Given the description of an element on the screen output the (x, y) to click on. 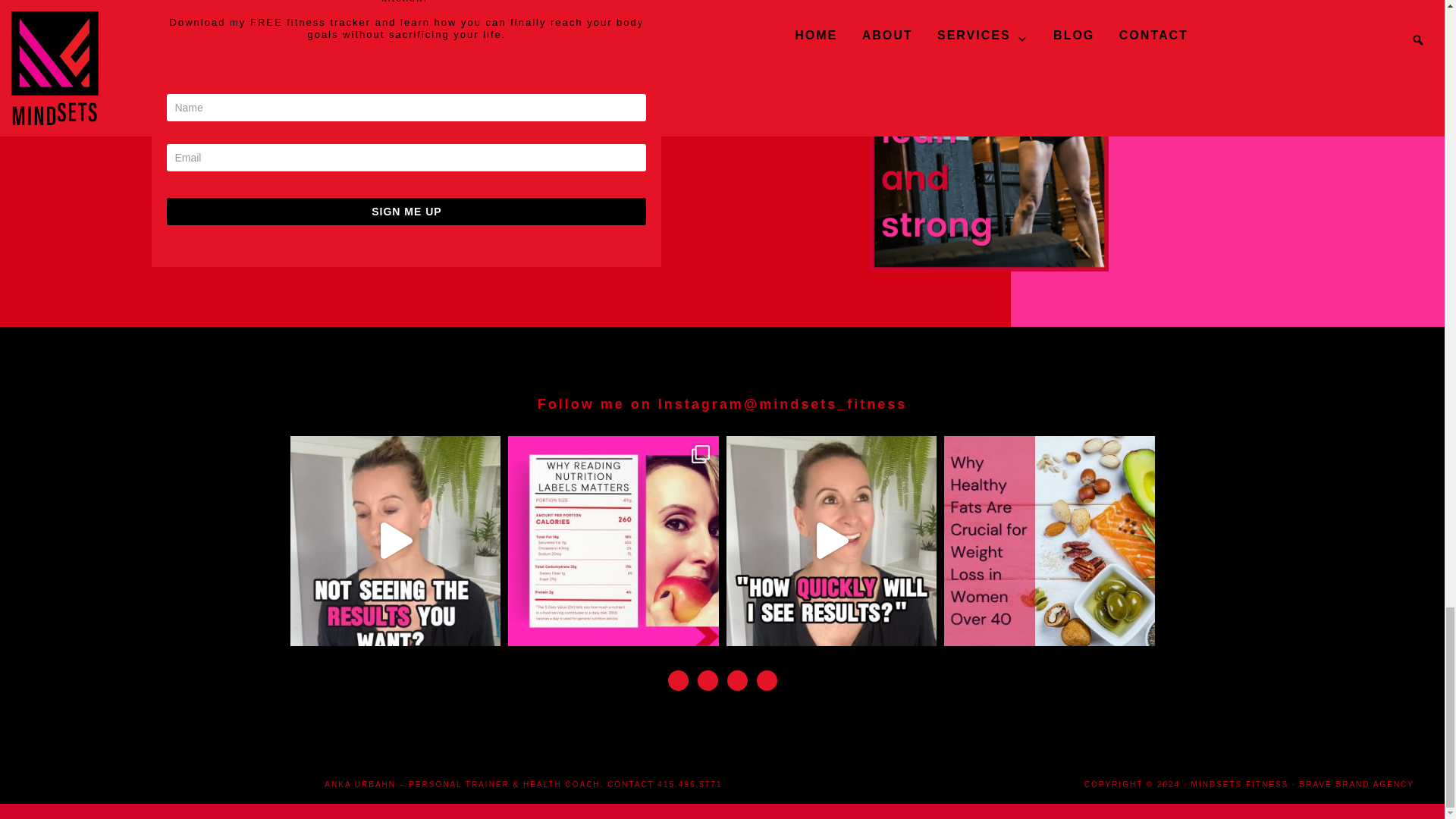
BRAVE BRAND AGENCY (1356, 784)
SIGN ME UP (406, 211)
